Given the description of an element on the screen output the (x, y) to click on. 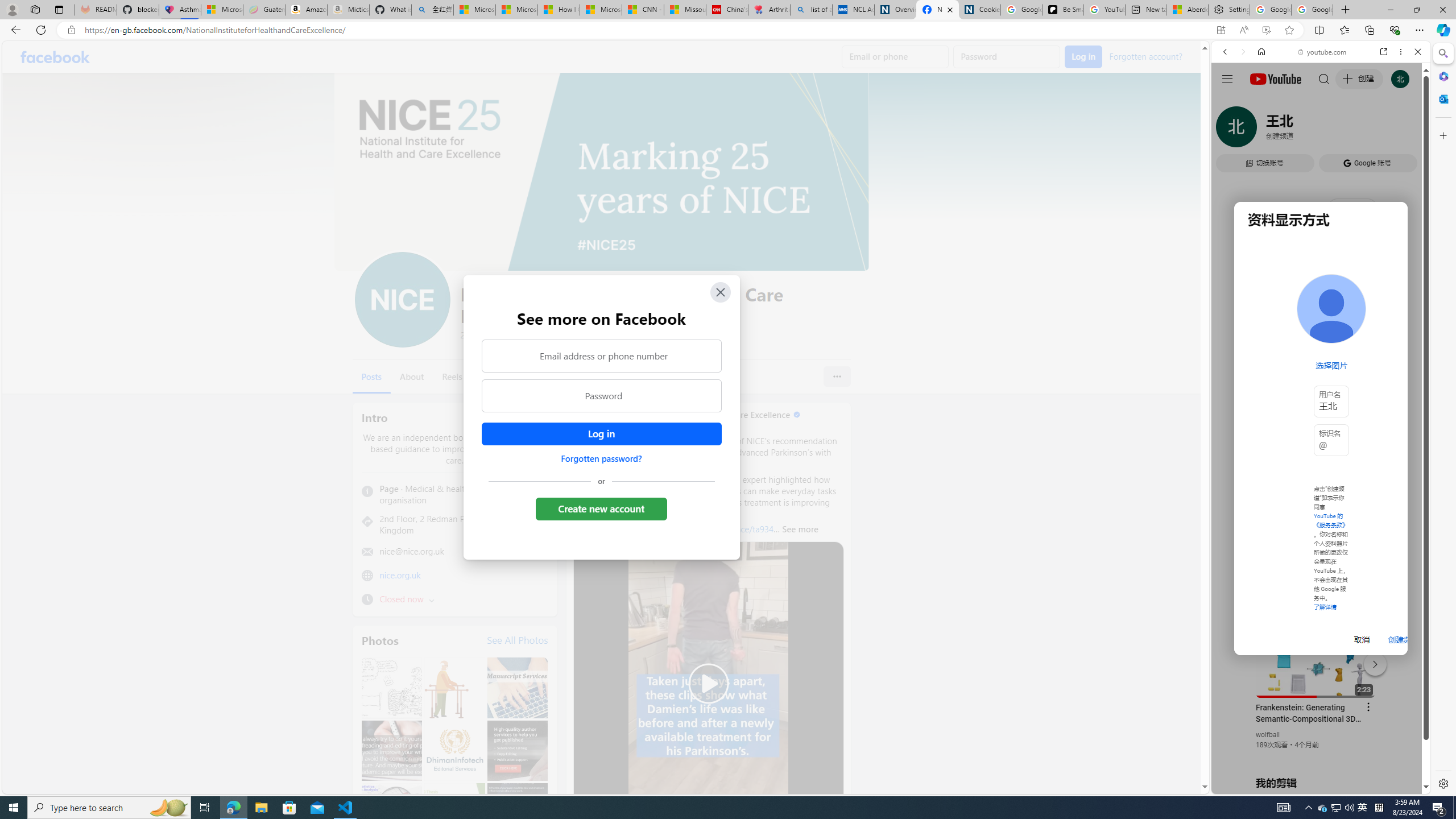
Forgotten account? (1145, 55)
Forgotten password? (601, 458)
Cookies (979, 9)
